Given the description of an element on the screen output the (x, y) to click on. 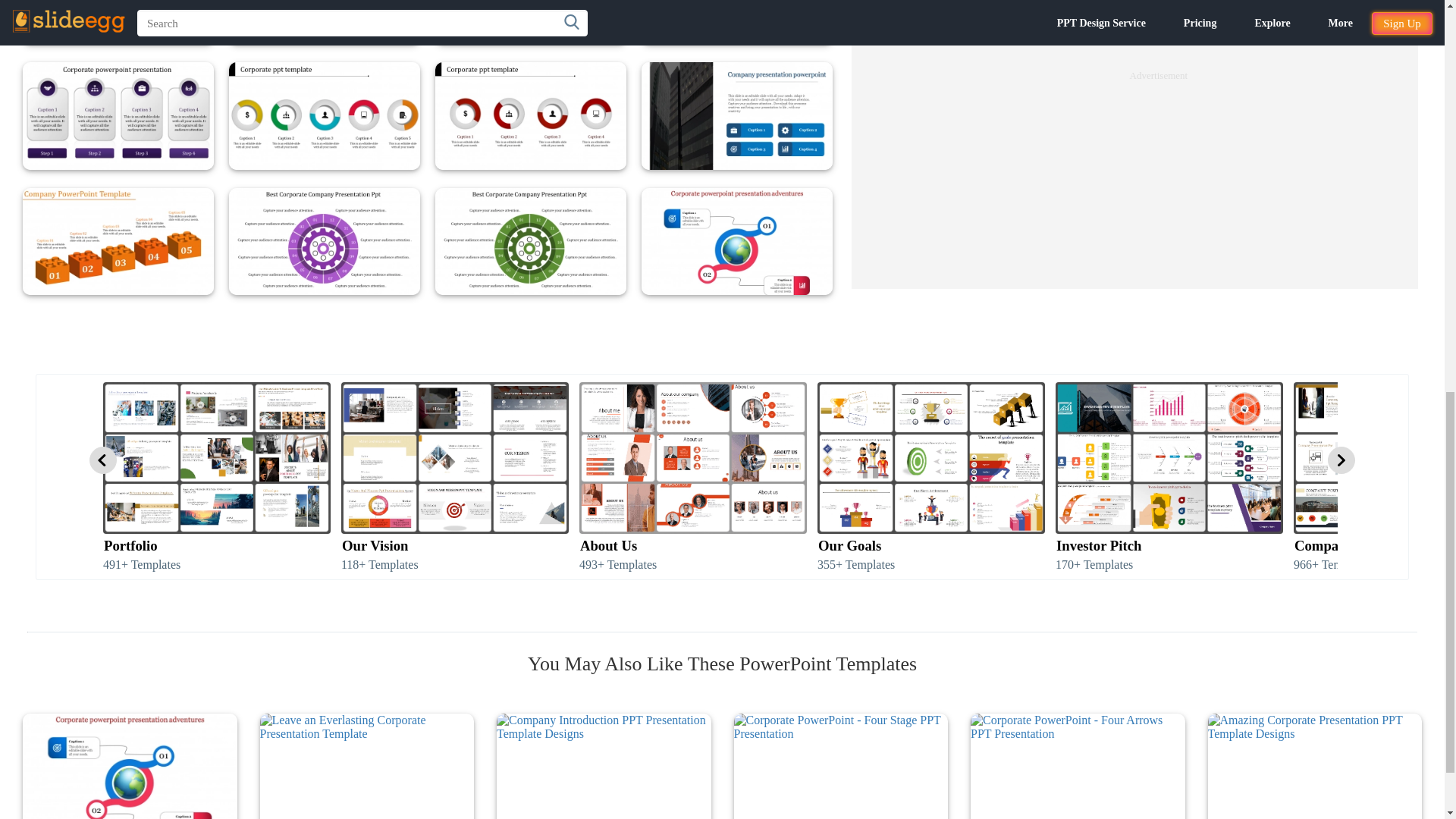
Leave an Everlasting Corporate Presentation Template (366, 766)
Corporate PowerPoint - Four Arrows PPT Presentation (1078, 766)
Amazing Corporate Presentation PPT Template Designs (1314, 766)
Company Introduction PPT Presentation Template Designs (603, 766)
Download the Best Corporate PowerPoint Presentation (130, 766)
Corporate PowerPoint - Four Stage PPT Presentation (841, 766)
